Given the description of an element on the screen output the (x, y) to click on. 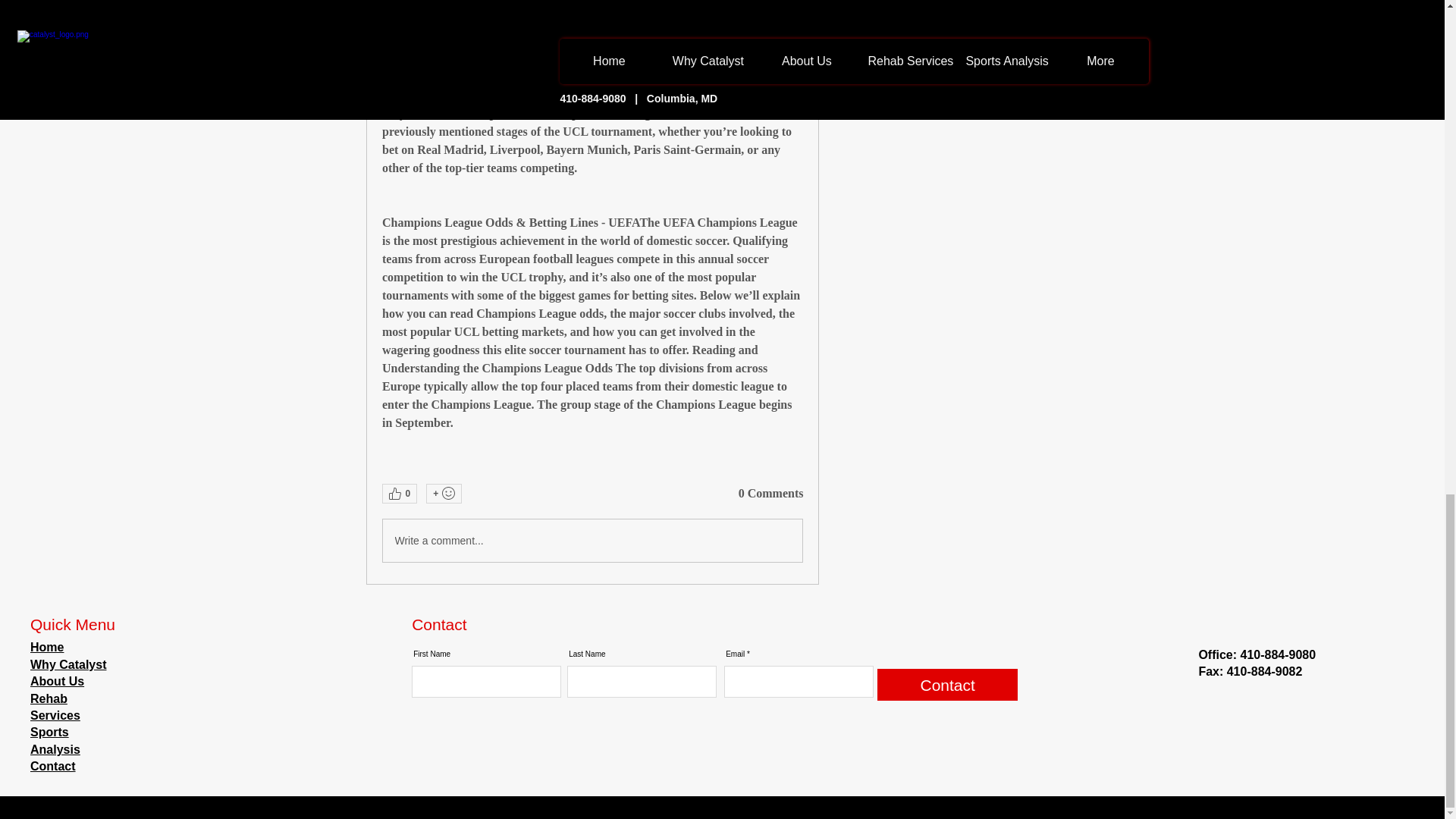
Write a comment... (591, 540)
0 Comments (770, 493)
